Given the description of an element on the screen output the (x, y) to click on. 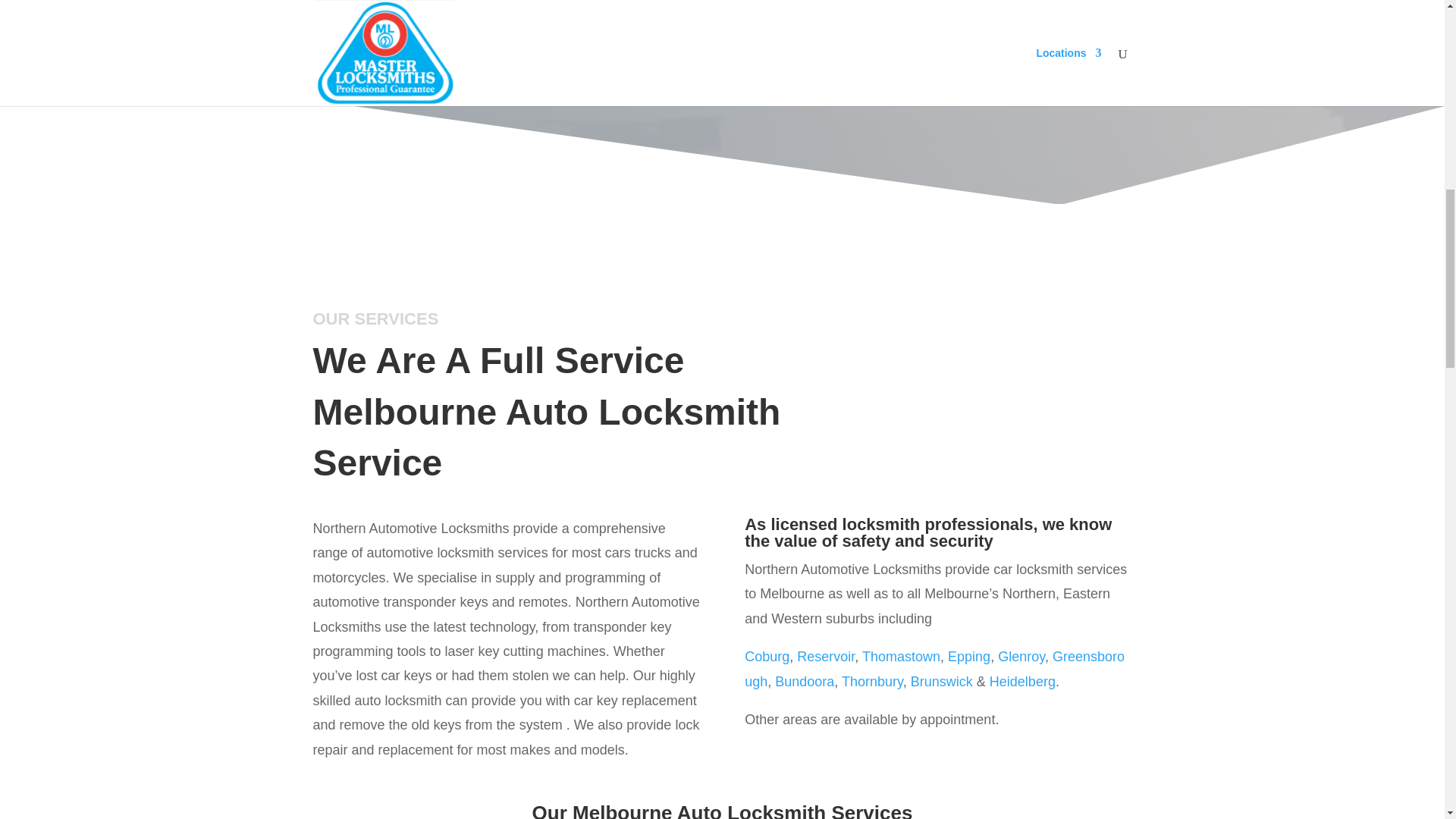
Automotive Locksmiths Coburg (766, 656)
Thornbury (871, 681)
Coburg (766, 656)
Reservoir (825, 656)
Bundoora (804, 681)
Heidelberg (1022, 681)
Automotive Locksmiths Bundoora (804, 681)
Automotive Locksmiths Reservoir (825, 656)
Automotive Locksmiths Brunswick (941, 681)
Automotive Locksmiths Greensborough (934, 668)
Automotive Locksmiths Heidelburg (1022, 681)
Glenroy (1021, 656)
Brunswick (941, 681)
Epping (968, 656)
Automotive Locksmiths Glenroy (1021, 656)
